Given the description of an element on the screen output the (x, y) to click on. 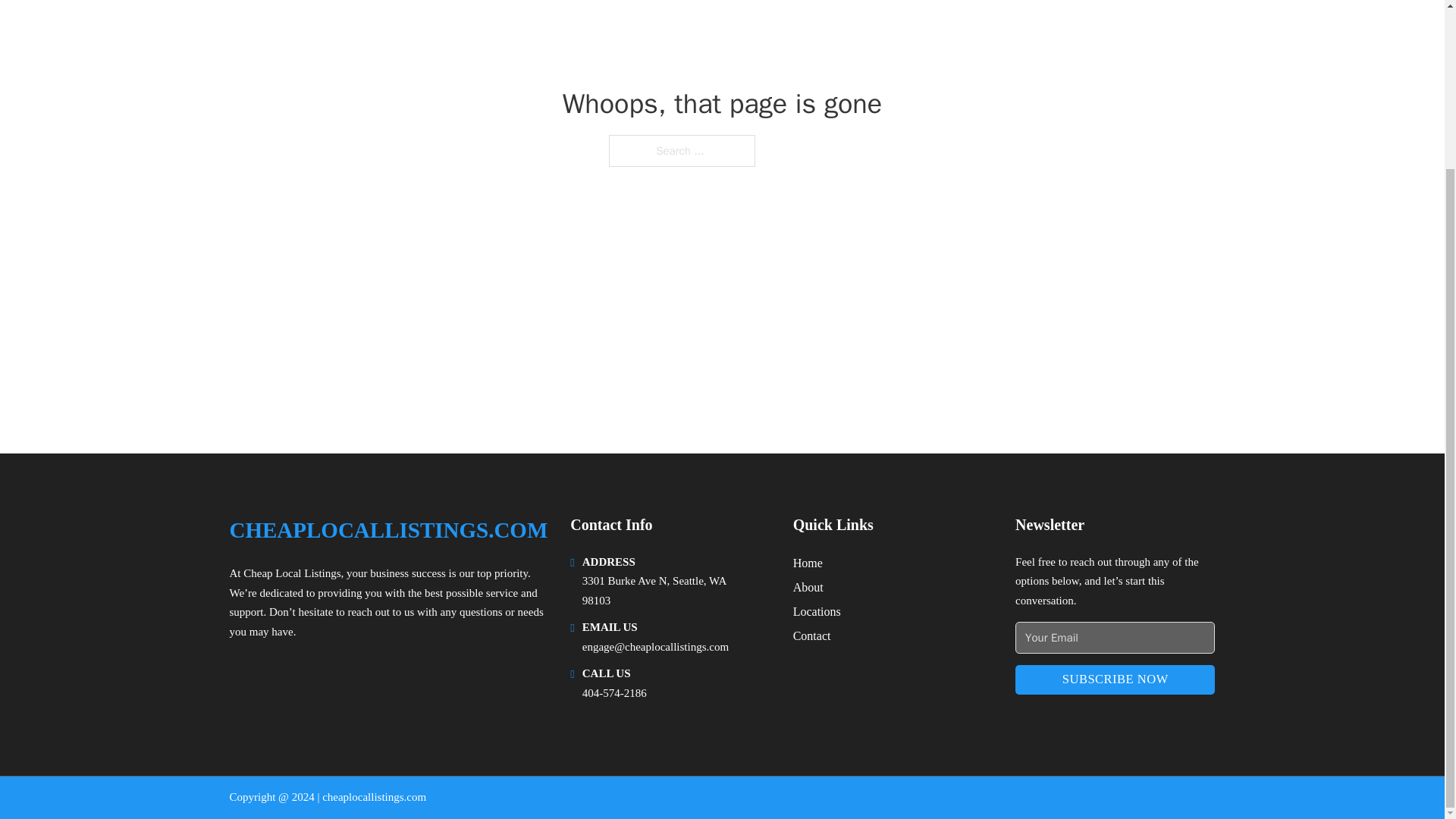
SUBSCRIBE NOW (1114, 679)
About (808, 587)
Home (807, 562)
404-574-2186 (614, 693)
Locations (817, 611)
Contact (812, 635)
CHEAPLOCALLISTINGS.COM (387, 529)
